Given the description of an element on the screen output the (x, y) to click on. 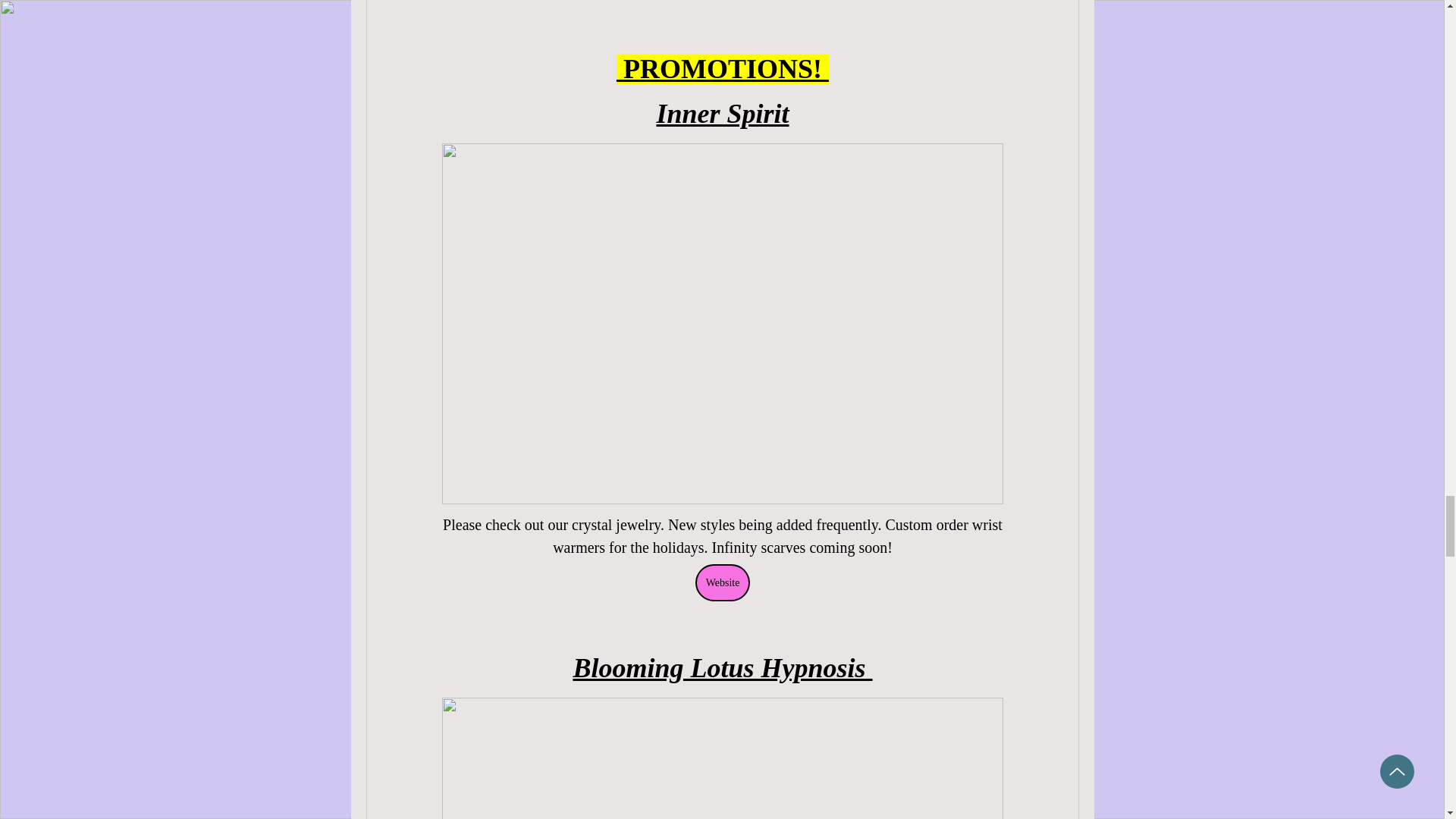
Website (721, 582)
